Given the description of an element on the screen output the (x, y) to click on. 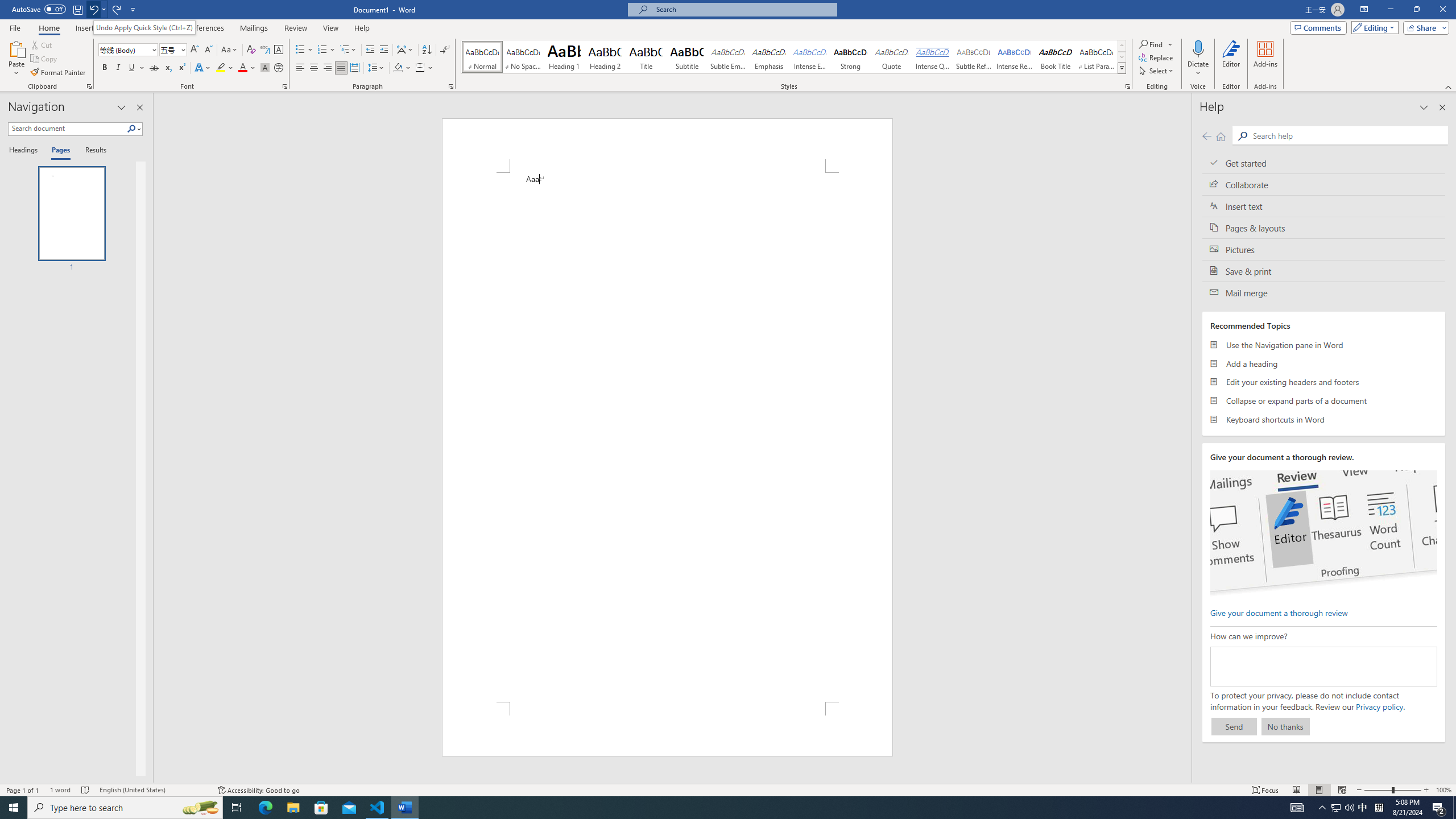
Save & print (1323, 270)
Previous page (1206, 136)
Intense Reference (1014, 56)
Page Number Page 1 of 1 (22, 790)
editor ui screenshot (1323, 533)
Use the Navigation pane in Word (1323, 344)
Pictures (1323, 249)
